Given the description of an element on the screen output the (x, y) to click on. 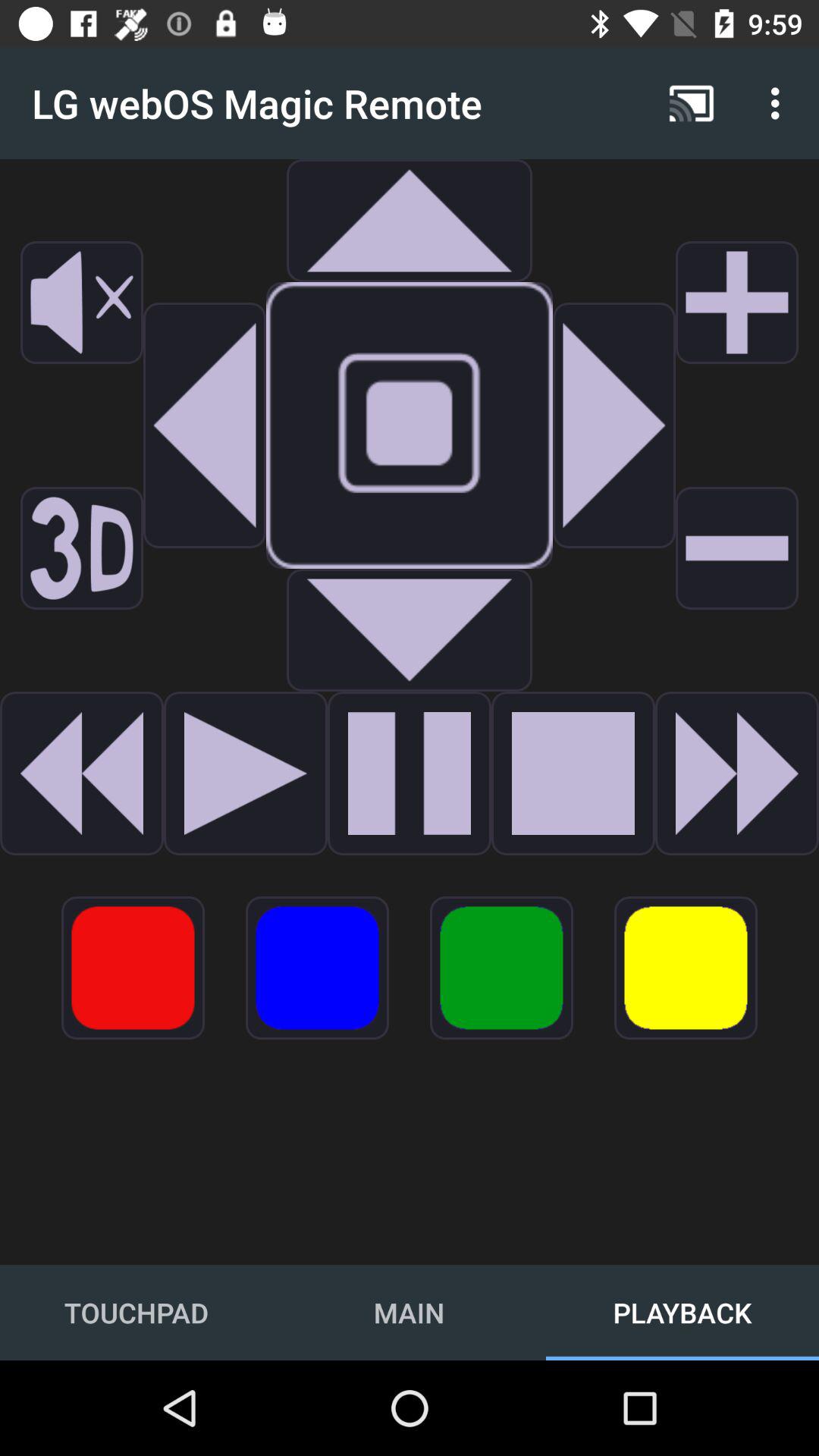
go back (204, 425)
